Given the description of an element on the screen output the (x, y) to click on. 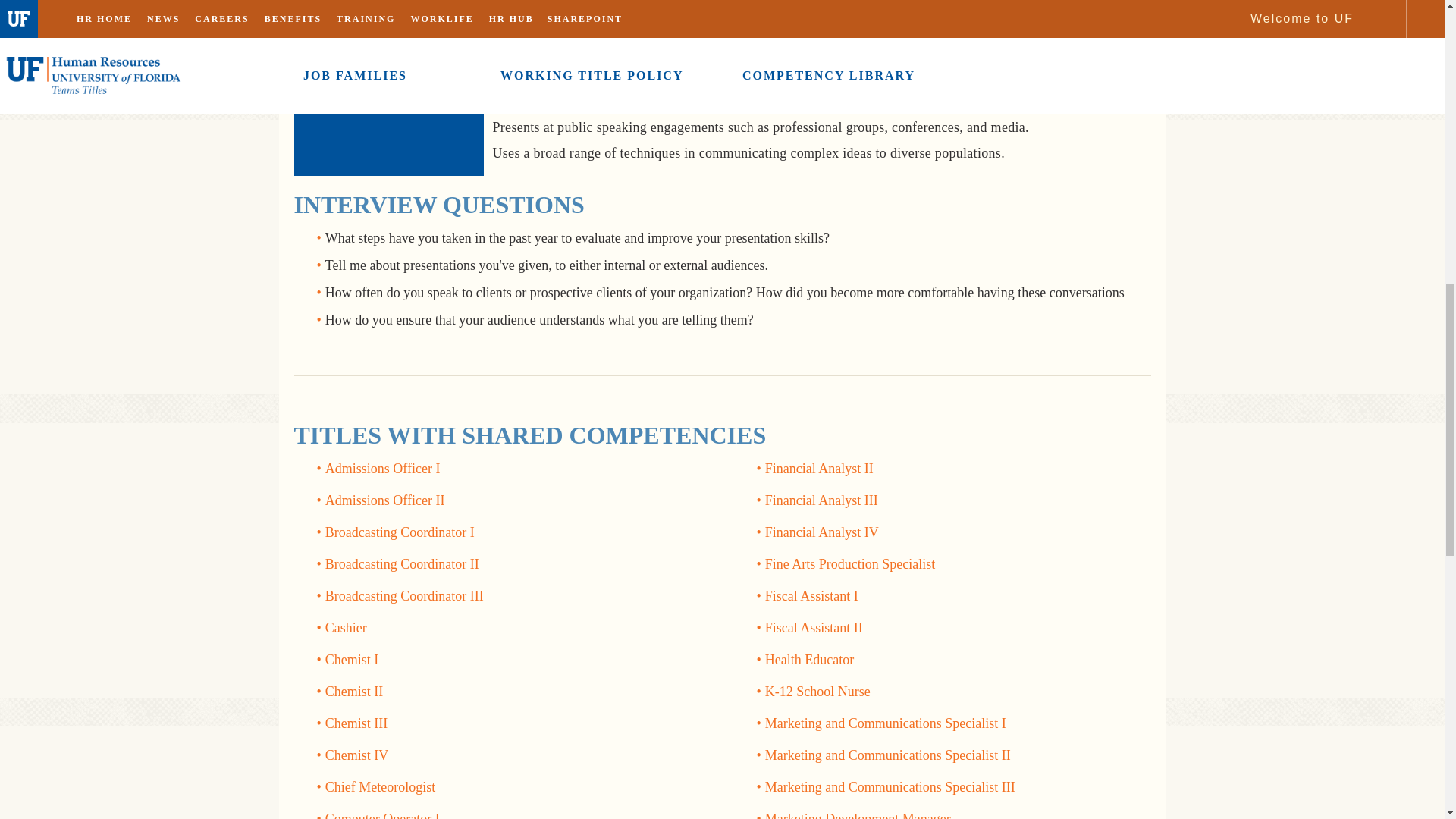
Chemist III (356, 723)
Broadcasting Coordinator III (403, 595)
Chemist IV (356, 754)
Cashier (345, 627)
Admissions Officer I (382, 468)
Broadcasting Coordinator II (401, 563)
Chemist I (351, 659)
Chemist II (354, 691)
Computer Operator I (381, 815)
Chief Meteorologist (379, 786)
